Given the description of an element on the screen output the (x, y) to click on. 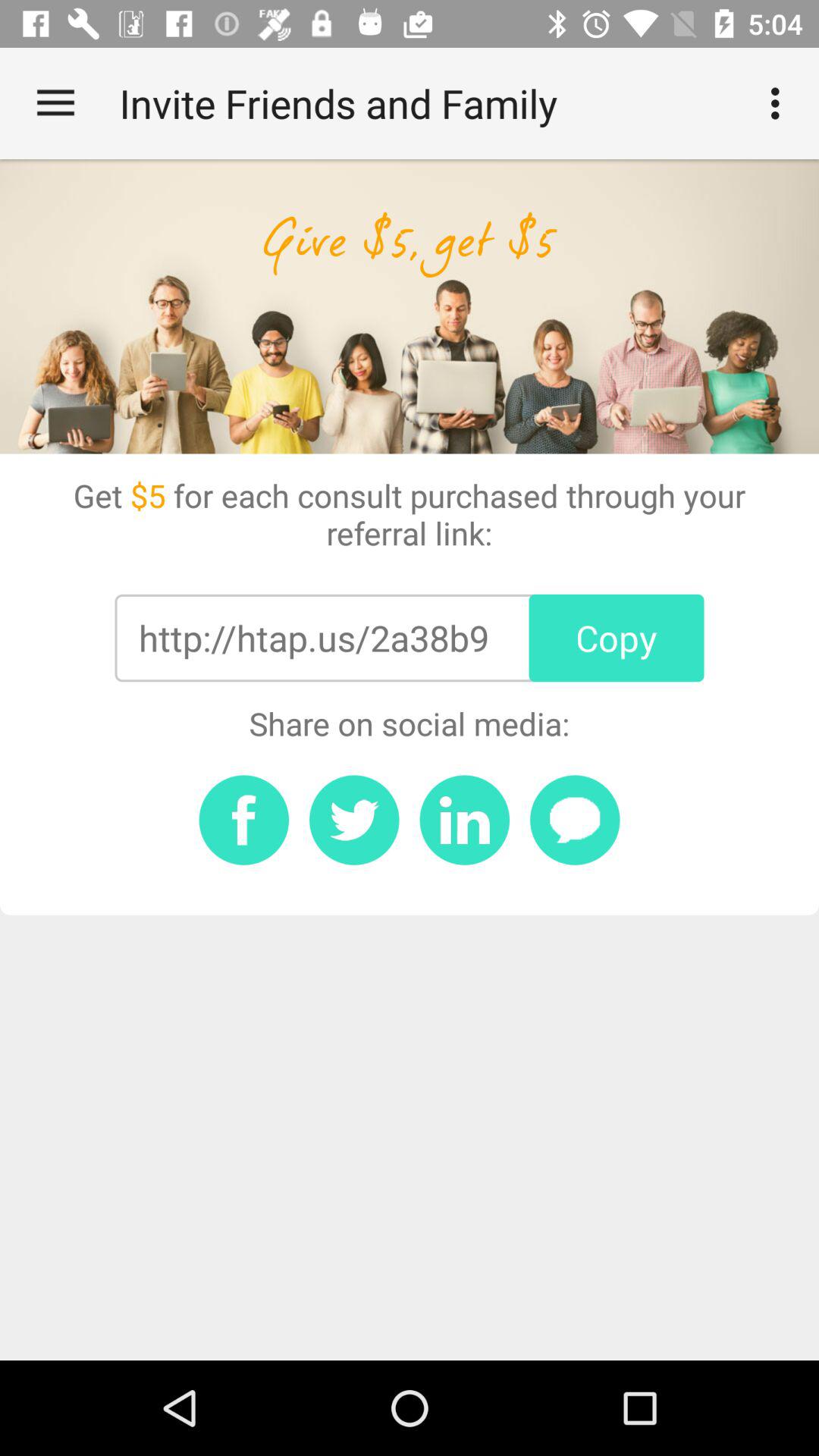
launch the icon above the share on social item (616, 637)
